Given the description of an element on the screen output the (x, y) to click on. 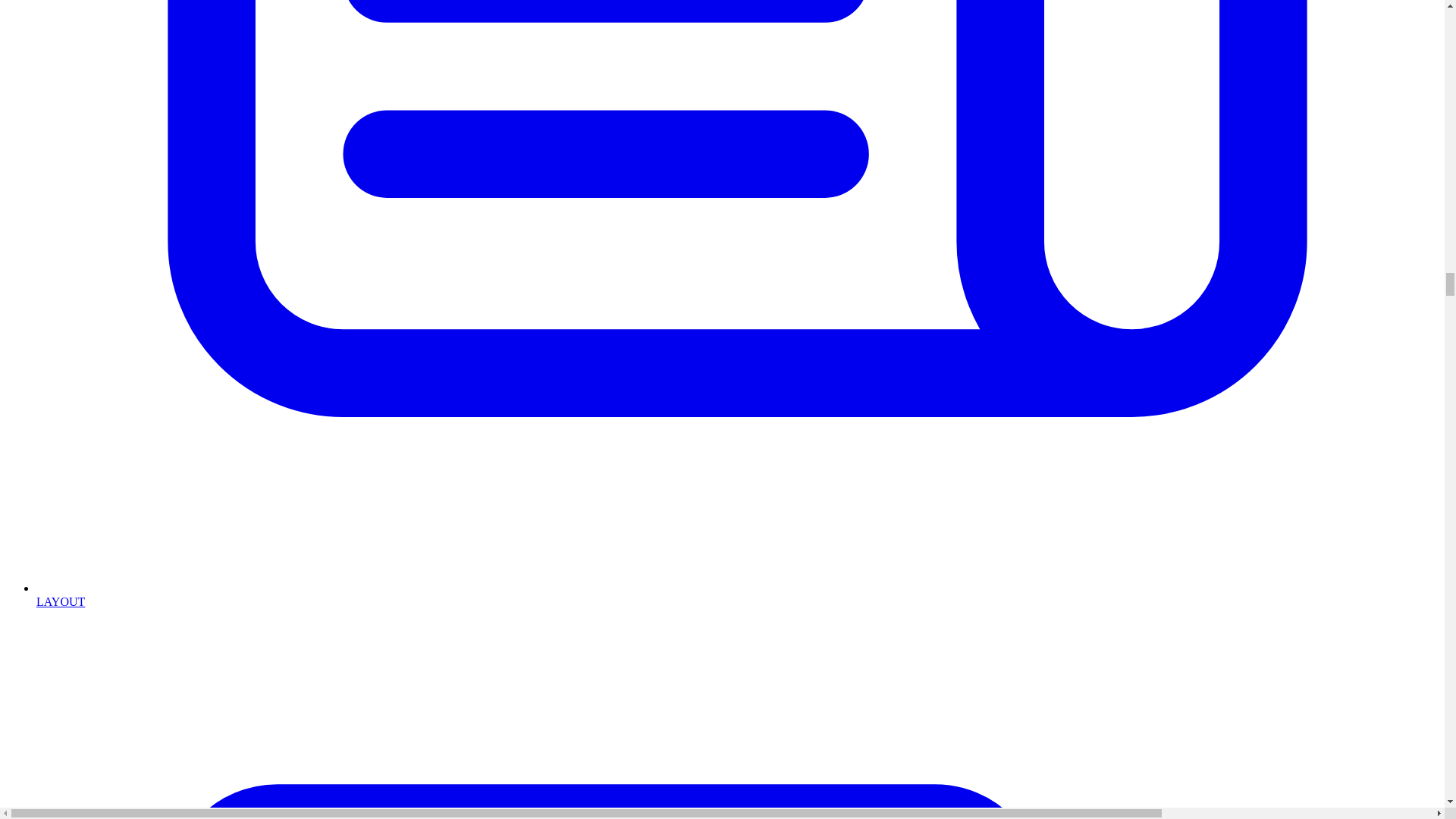
LAYOUT (737, 594)
